Given the description of an element on the screen output the (x, y) to click on. 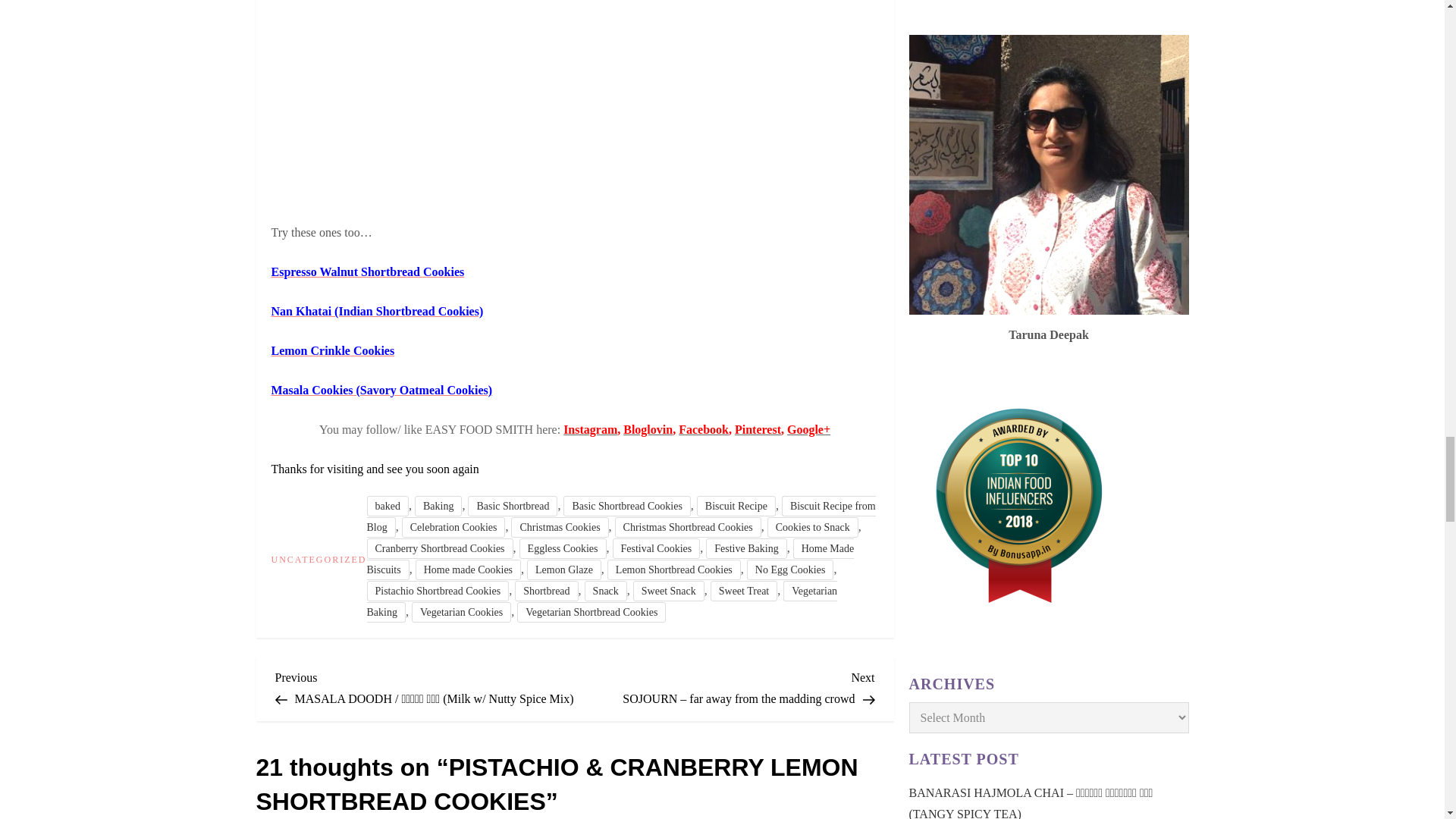
Biscuit Recipe (736, 506)
Basic Shortbread Cookies (626, 506)
Facebook (703, 429)
baked (387, 506)
Espresso Walnut Shortbread Cookies (367, 271)
Pinterest (757, 429)
Basic Shortbread (512, 506)
Instagram (590, 429)
UNCATEGORIZED (318, 560)
Baking (437, 506)
